Given the description of an element on the screen output the (x, y) to click on. 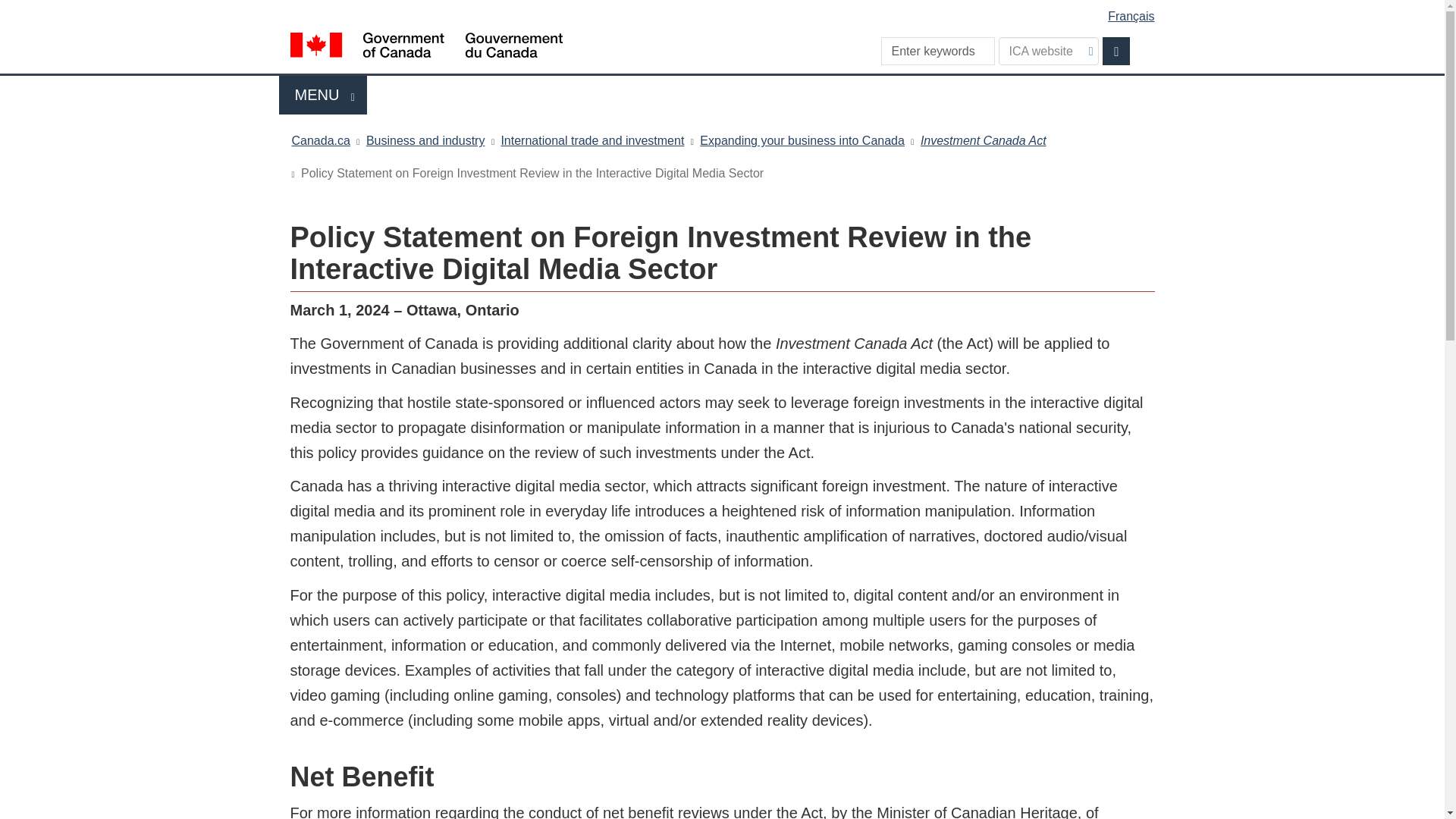
Search (1115, 50)
Skip to main content (725, 11)
Search (1115, 50)
